Given the description of an element on the screen output the (x, y) to click on. 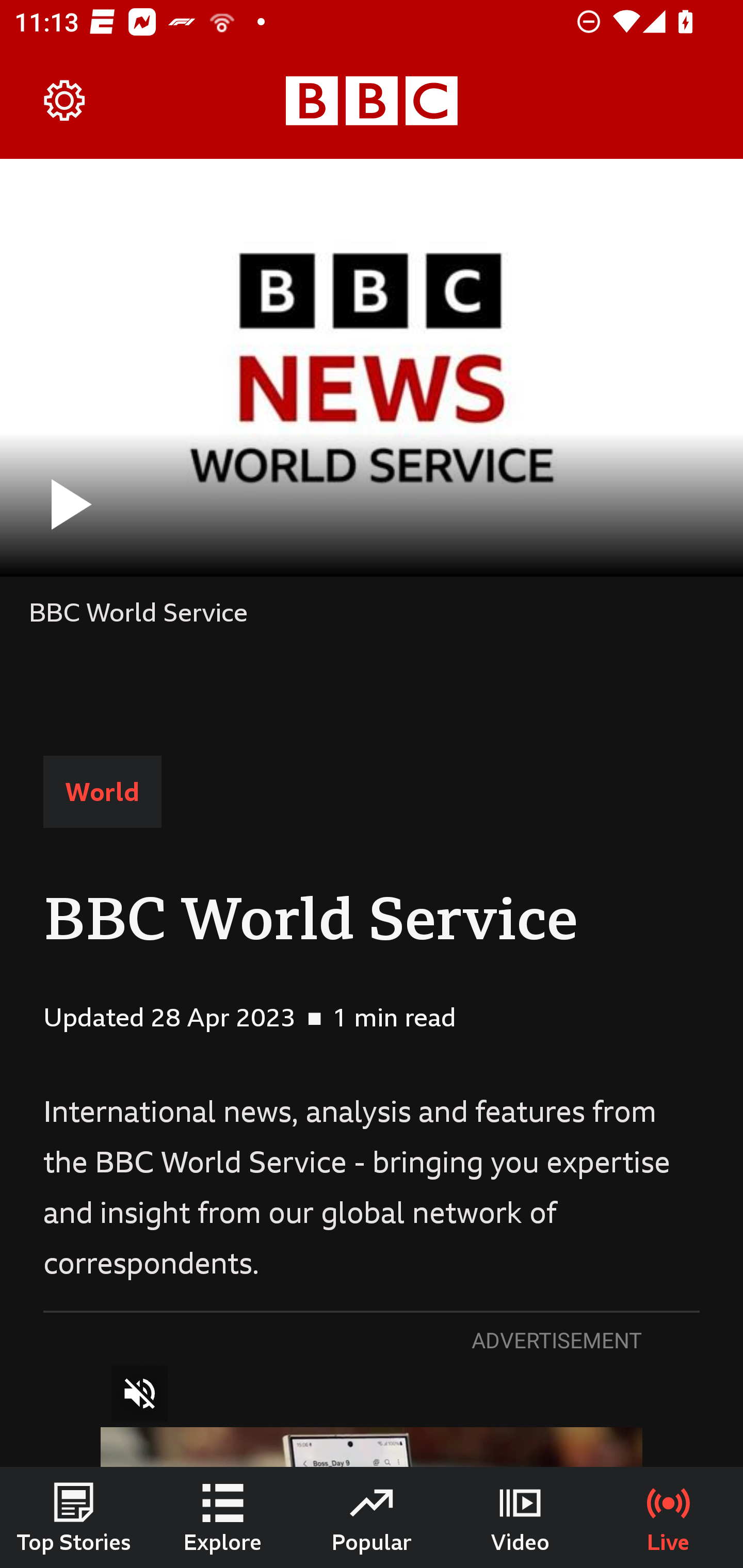
Settings (64, 100)
play fullscreen (371, 367)
World (102, 791)
Top Stories (74, 1517)
Explore (222, 1517)
Popular (371, 1517)
Video (519, 1517)
